Given the description of an element on the screen output the (x, y) to click on. 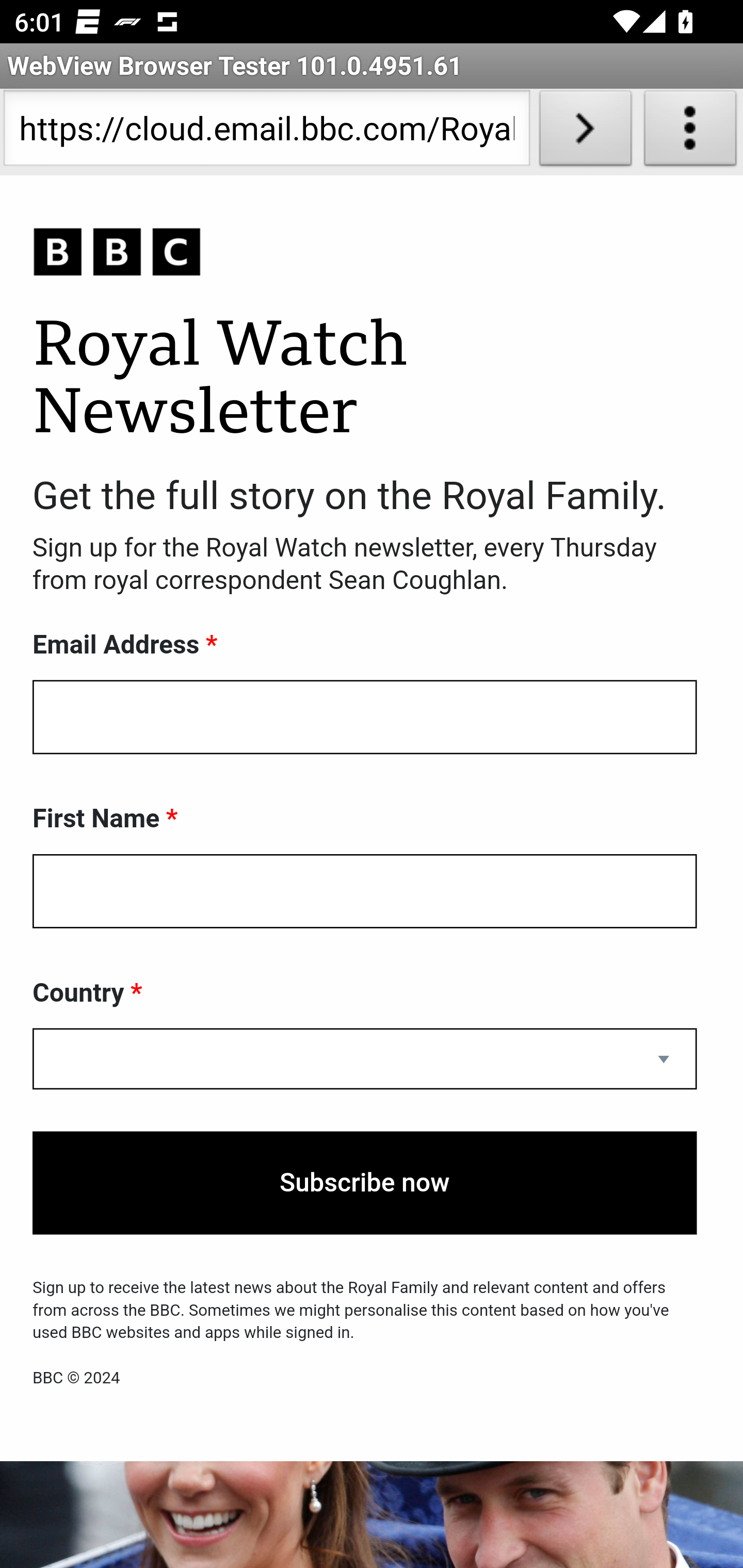
Load URL (585, 132)
About WebView (690, 132)
BBC (364, 253)
Subscribe now (364, 1182)
